Given the description of an element on the screen output the (x, y) to click on. 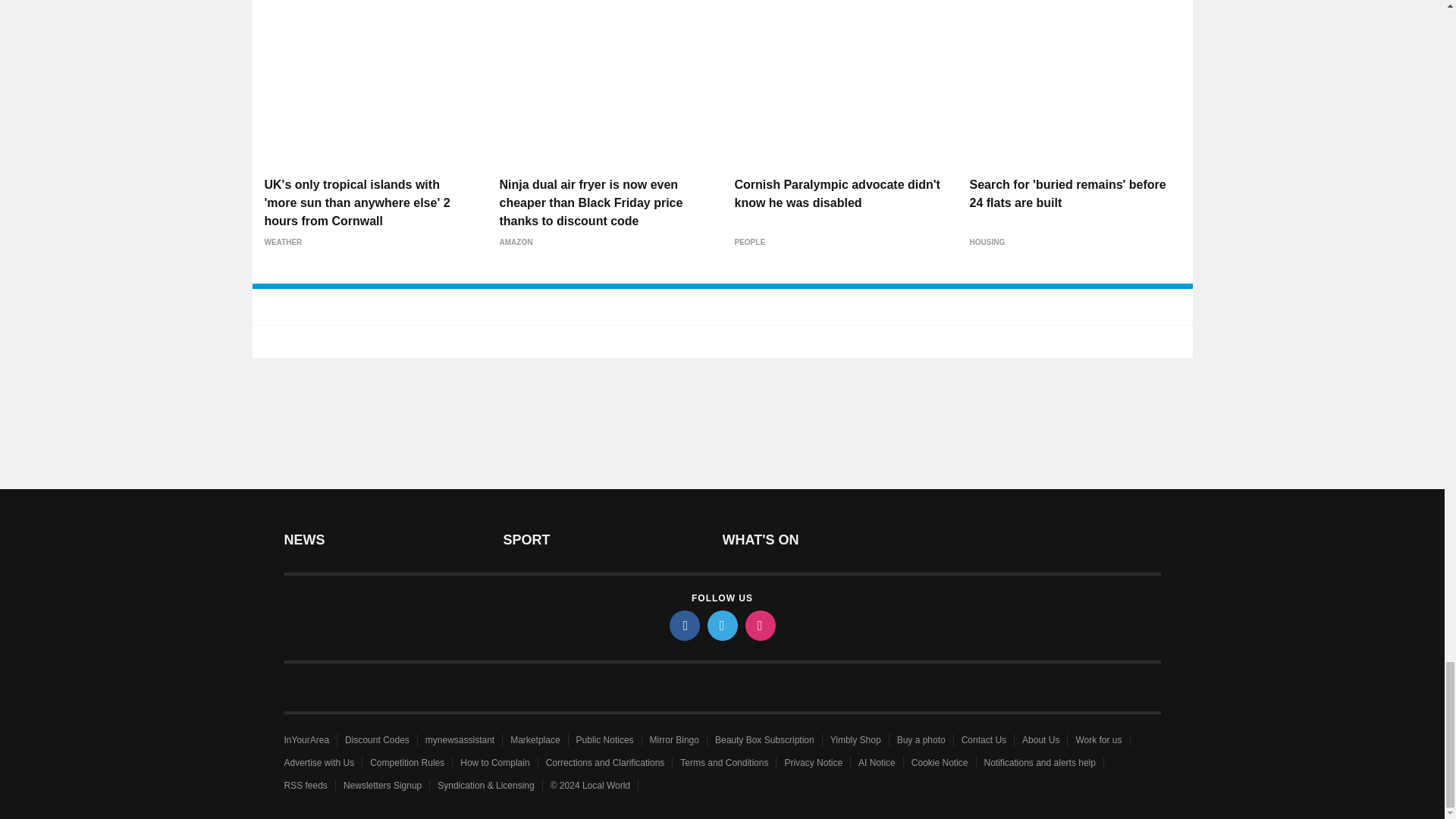
instagram (759, 625)
twitter (721, 625)
facebook (683, 625)
